Given the description of an element on the screen output the (x, y) to click on. 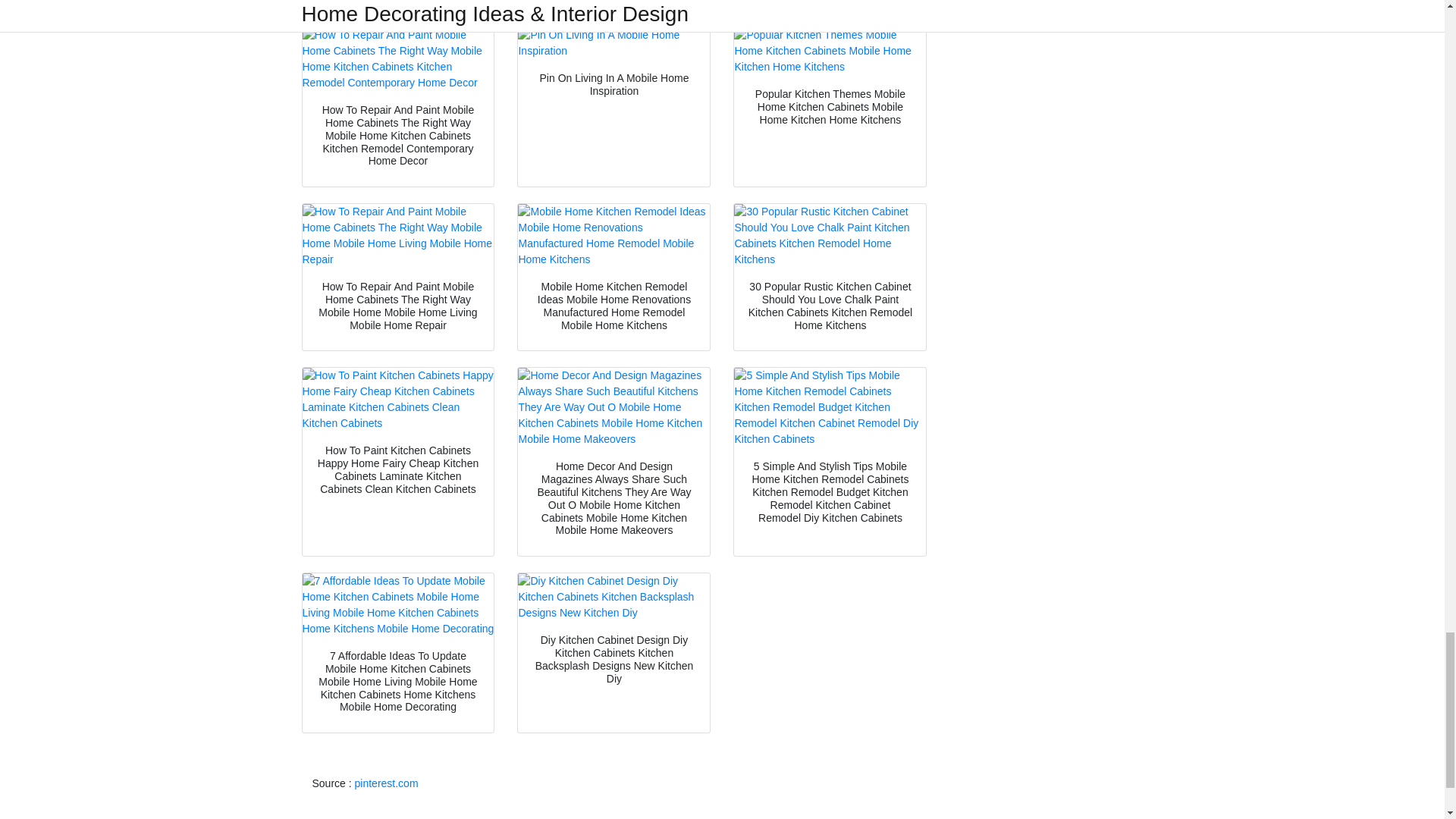
pinterest.com (387, 783)
